Given the description of an element on the screen output the (x, y) to click on. 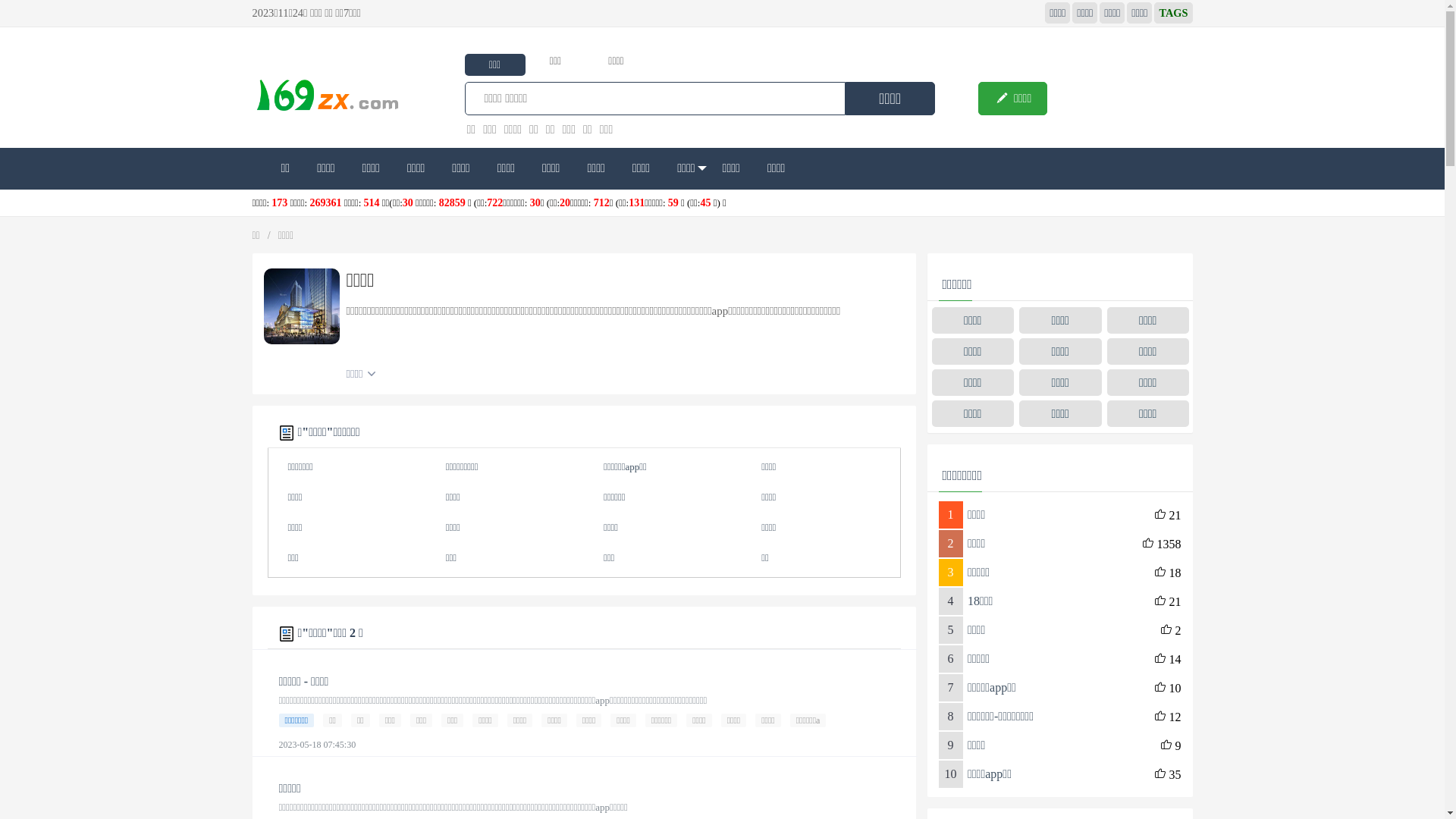
TAGS Element type: text (1173, 12)
